Given the description of an element on the screen output the (x, y) to click on. 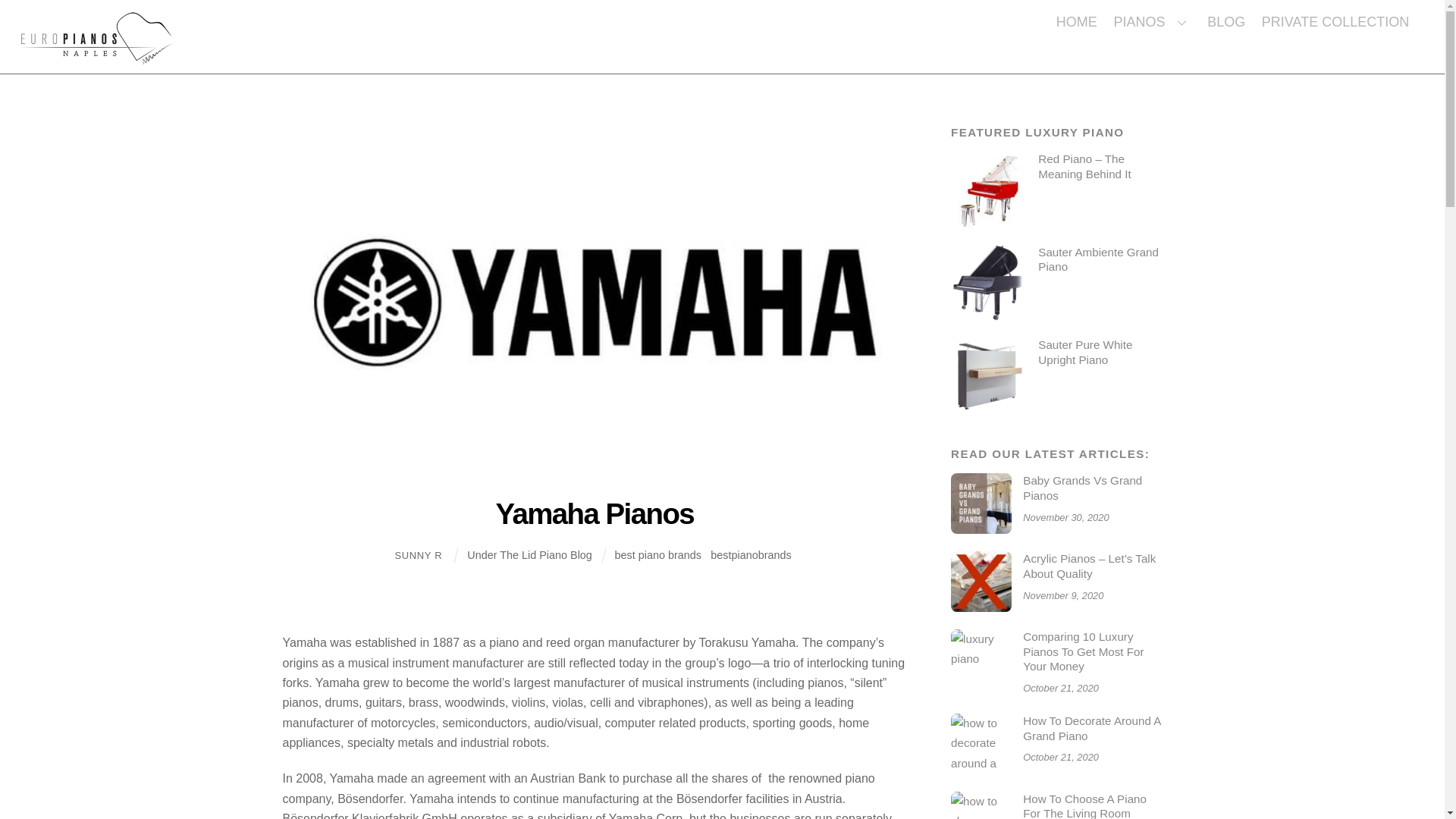
best piano brands (722, 22)
SUNNY R (657, 554)
bestpianobrands (418, 555)
Under The Lid Piano Blog (750, 554)
HOME (529, 554)
PRIVATE COLLECTION (1076, 22)
BLOG (1334, 22)
Sauter upright designed by Peter Maly (1225, 22)
Euro Pianos (988, 375)
PIANOS (97, 54)
Yamaha Pianos (1152, 22)
Yamaha piano logo (594, 513)
